Given the description of an element on the screen output the (x, y) to click on. 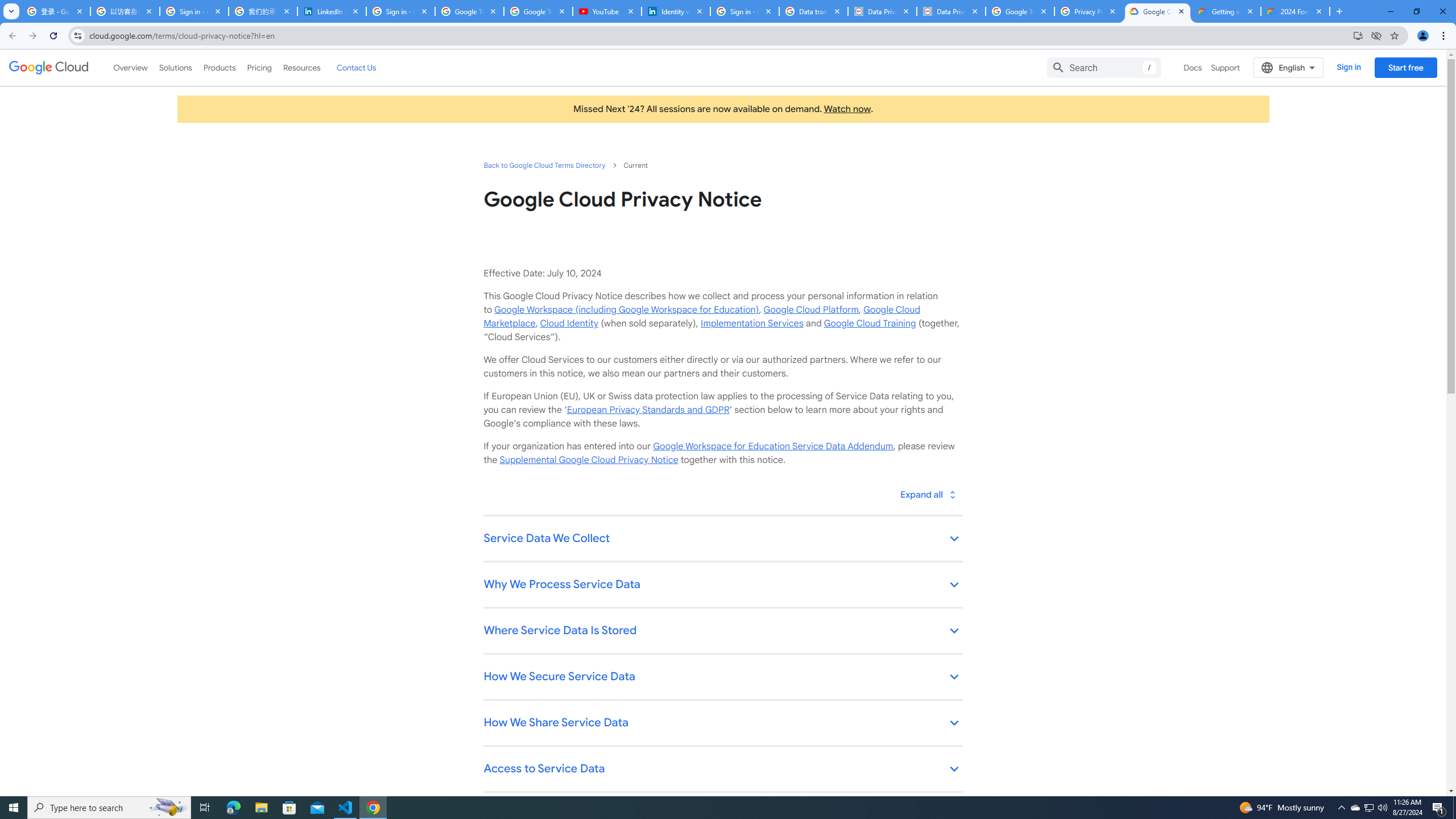
Google Cloud Training (869, 323)
Google Workspace for Education Service Data Addendum (772, 446)
Sign in - Google Accounts (400, 11)
Support (1225, 67)
Supplemental Google Cloud Privacy Notice (588, 460)
Why We Process Service Data keyboard_arrow_down (722, 585)
English (1288, 67)
Service Data We Collect keyboard_arrow_down (722, 539)
Google Cloud Privacy Notice (1157, 11)
